Given the description of an element on the screen output the (x, y) to click on. 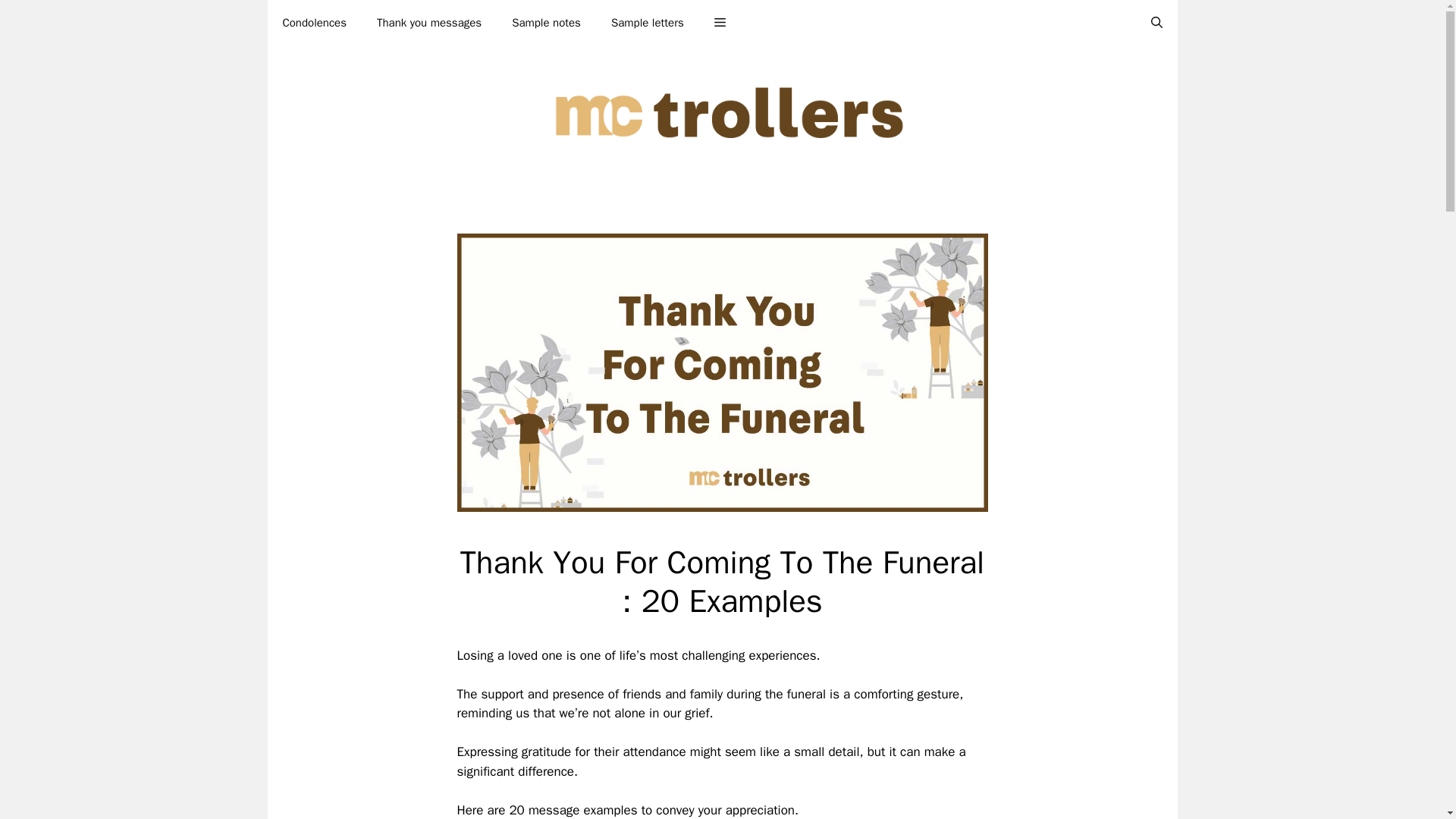
Condolences (313, 22)
Sample letters (646, 22)
Thank you messages (428, 22)
Sample notes (545, 22)
